Given the description of an element on the screen output the (x, y) to click on. 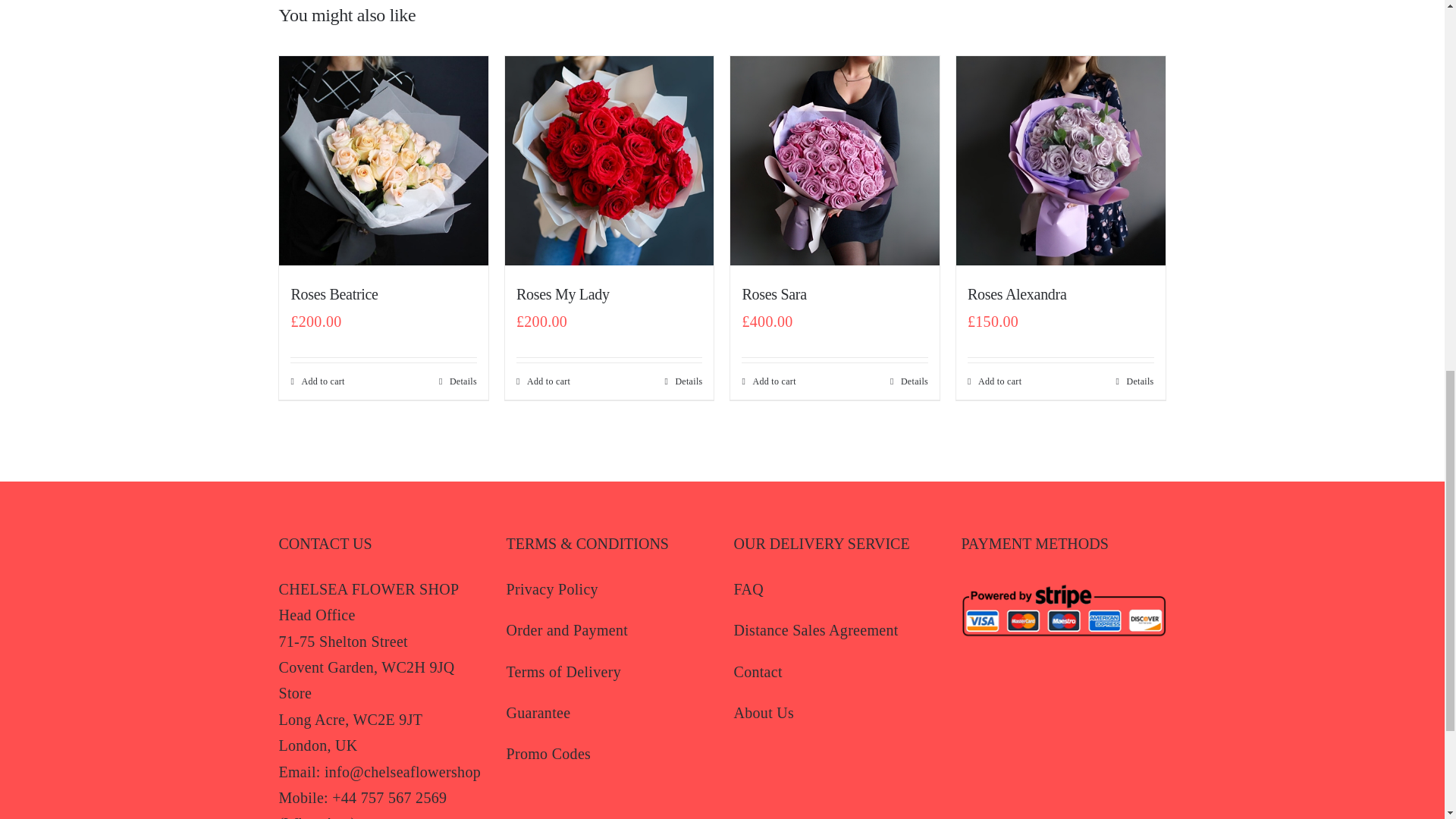
Details (682, 381)
Roses My Lady (563, 293)
Add to cart (767, 381)
Roses Sara (773, 293)
Details (458, 381)
Add to cart (543, 381)
Roses Beatrice (333, 293)
Add to cart (316, 381)
